Given the description of an element on the screen output the (x, y) to click on. 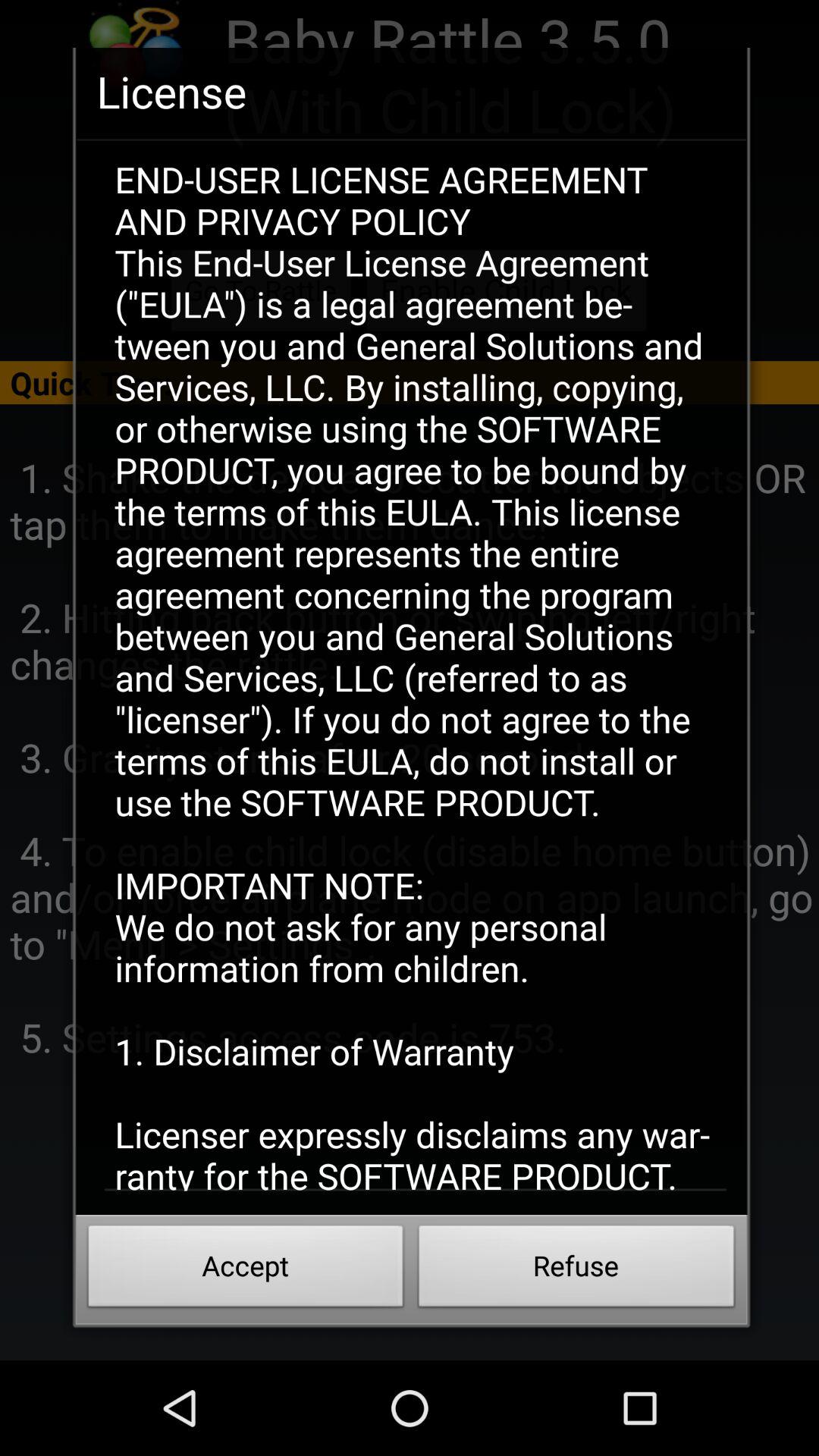
choose the app below the end user license (245, 1270)
